Given the description of an element on the screen output the (x, y) to click on. 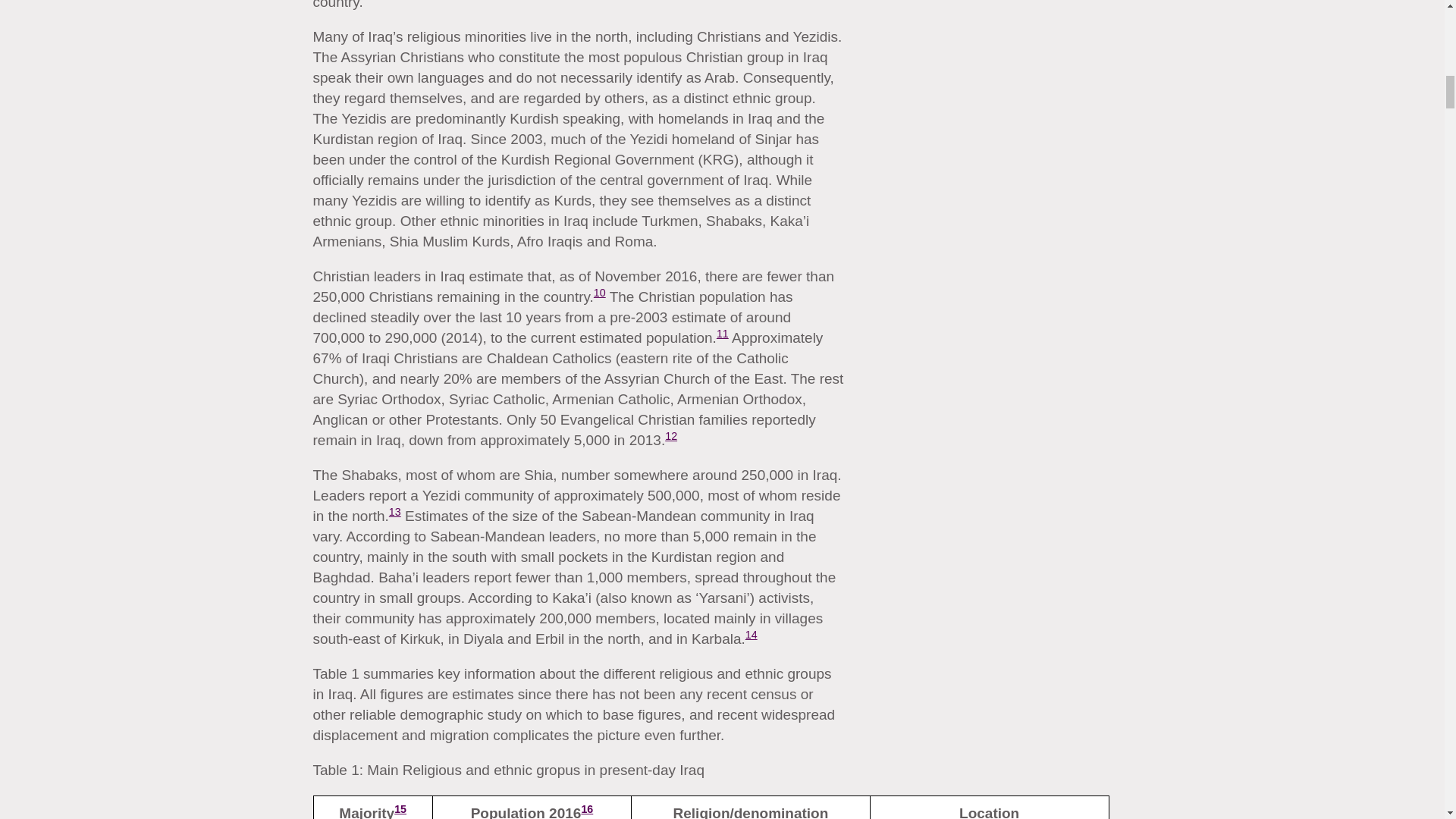
16 (586, 808)
11 (722, 333)
12 (671, 435)
13 (394, 511)
14 (751, 634)
10 (599, 292)
15 (400, 808)
